Given the description of an element on the screen output the (x, y) to click on. 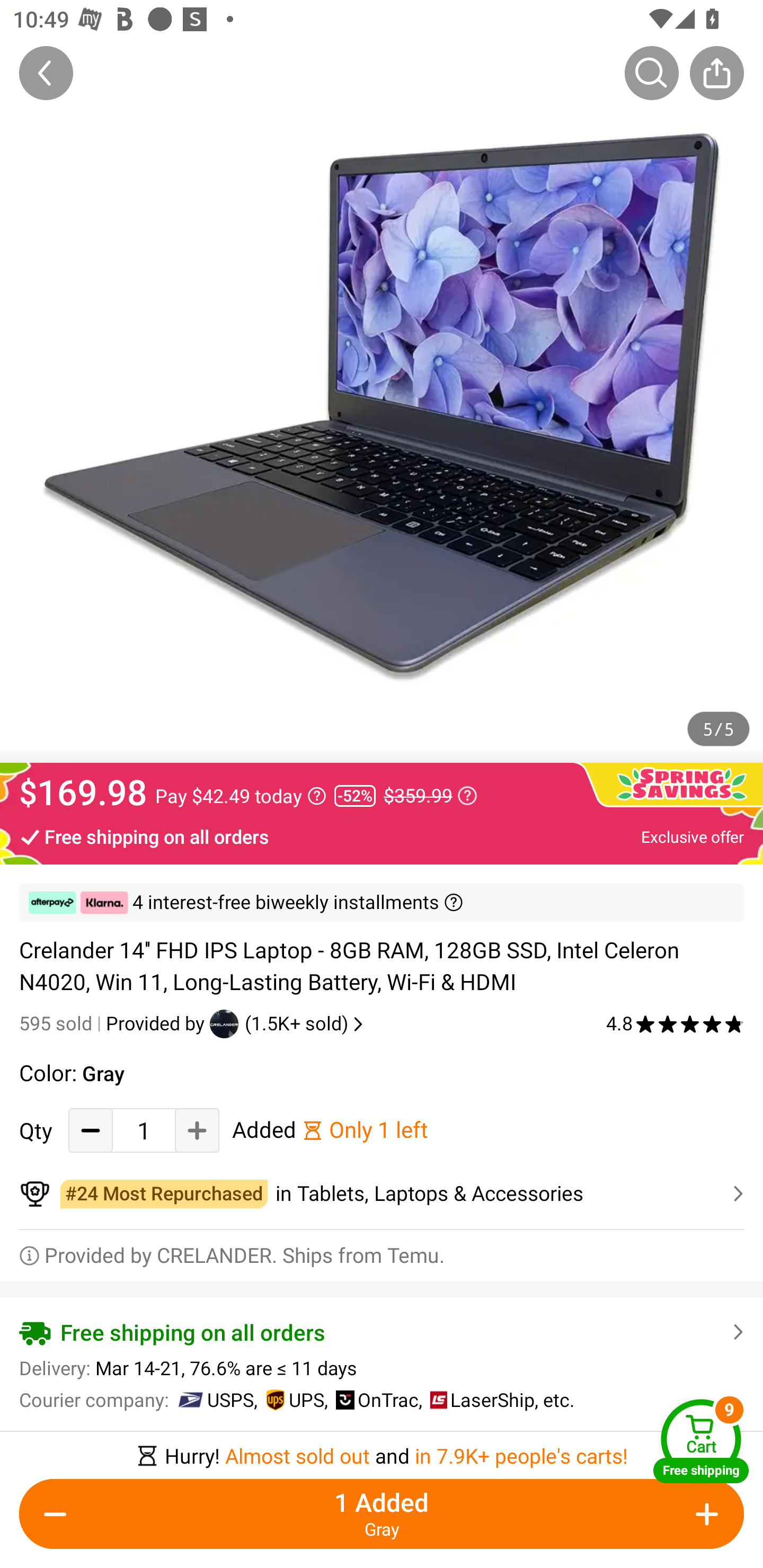
Back (46, 72)
Share (716, 72)
Pay $42.49 today   (240, 795)
Free shipping on all orders Exclusive offer (381, 836)
￼ ￼ 4 interest-free biweekly installments ￼ (381, 902)
4.8 (674, 1023)
Decrease Quantity Button (90, 1130)
1 (143, 1130)
Add Quantity button (196, 1130)
￼￼in Tablets, Laptops & Accessories (381, 1193)
Cart Free shipping Cart (701, 1440)
Decrease Quantity Button (59, 1513)
